Given the description of an element on the screen output the (x, y) to click on. 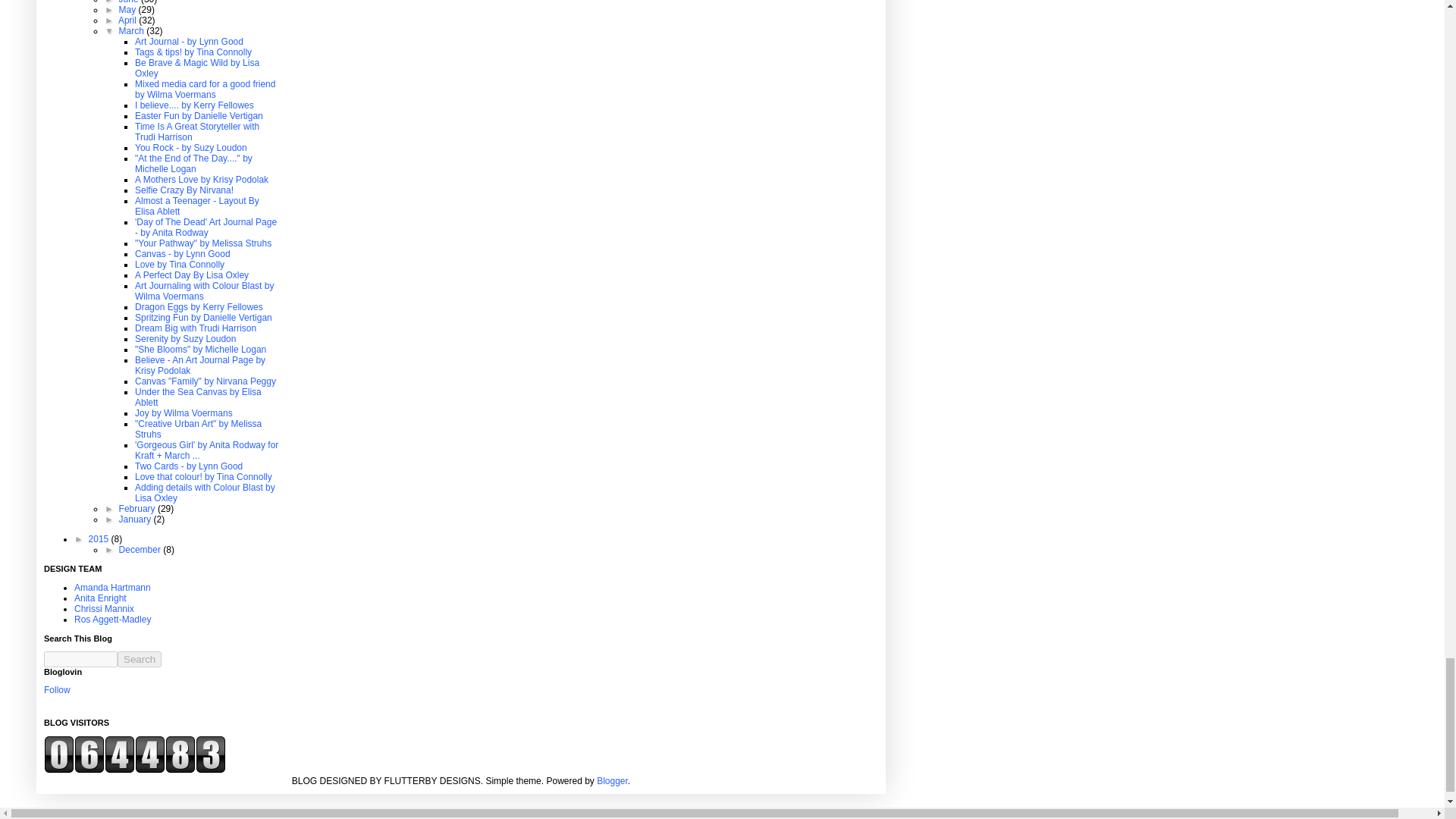
free hit counter code (134, 769)
free hit counter code (134, 754)
search (80, 659)
Search (139, 659)
search (139, 659)
Search (139, 659)
